Given the description of an element on the screen output the (x, y) to click on. 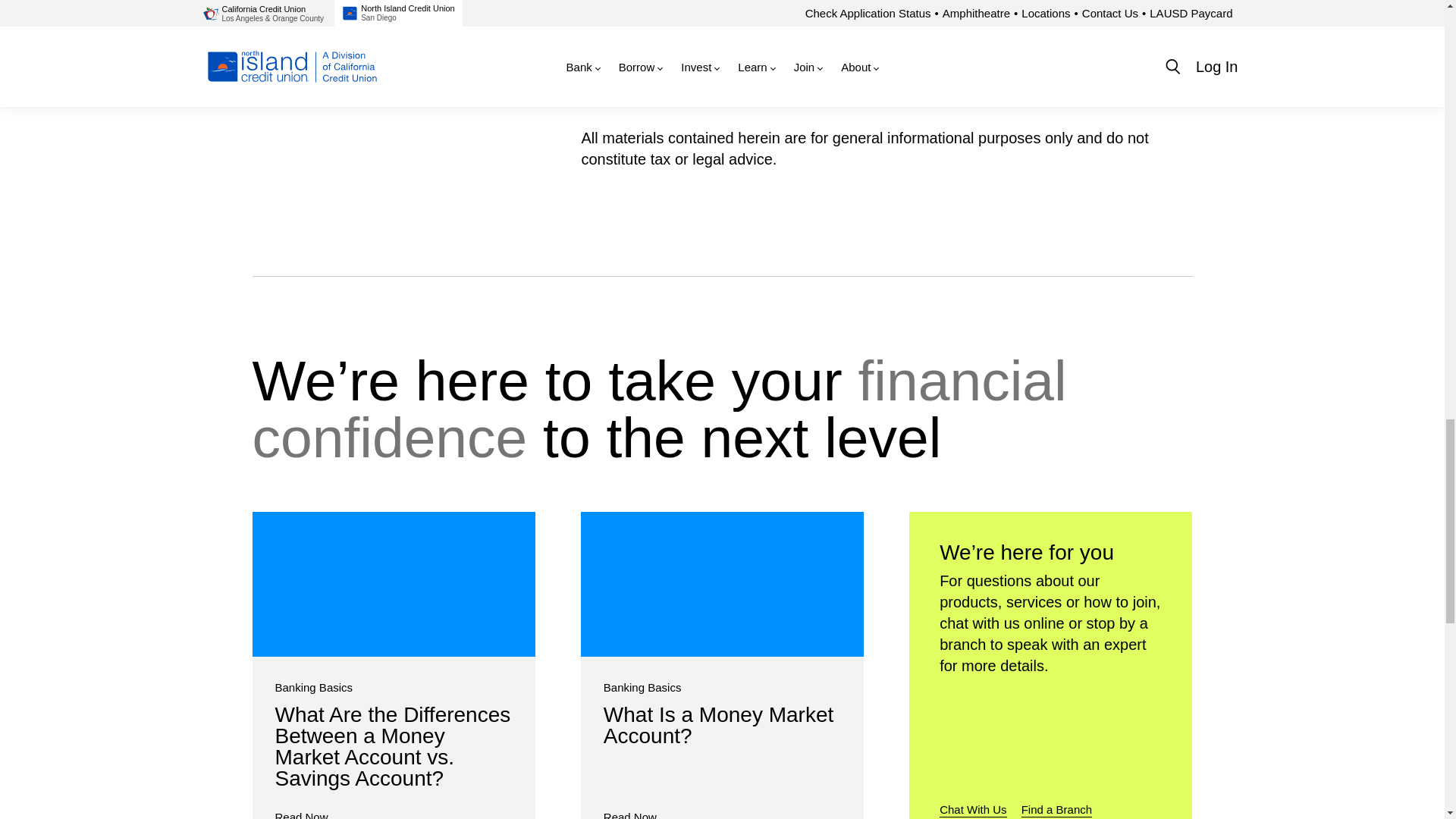
Chat With Us (972, 809)
Student Savings (658, 69)
Student Checking (661, 6)
Find a Branch (1057, 809)
Read Now about What Is a Money Market Account? (630, 814)
